Given the description of an element on the screen output the (x, y) to click on. 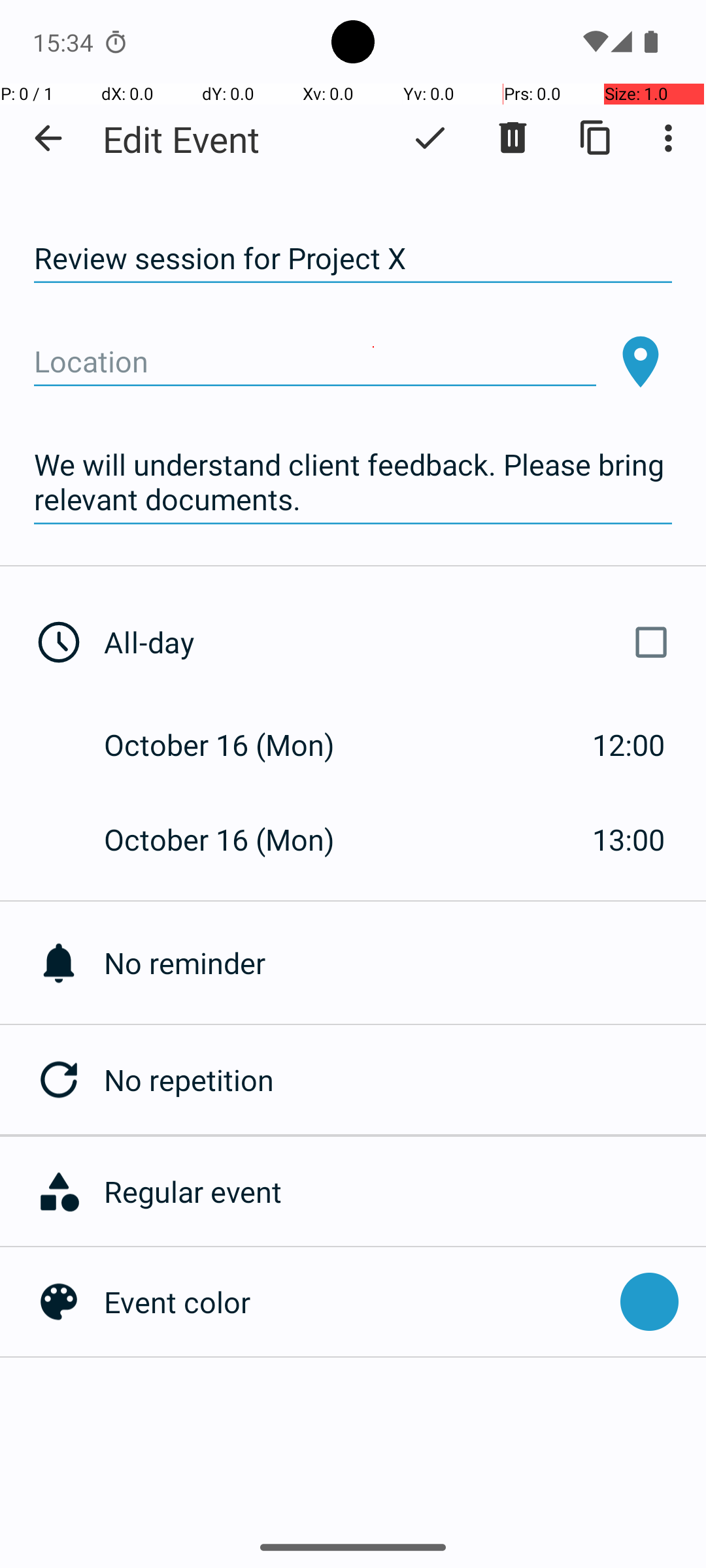
We will understand client feedback. Please bring relevant documents. Element type: android.widget.EditText (352, 482)
